Given the description of an element on the screen output the (x, y) to click on. 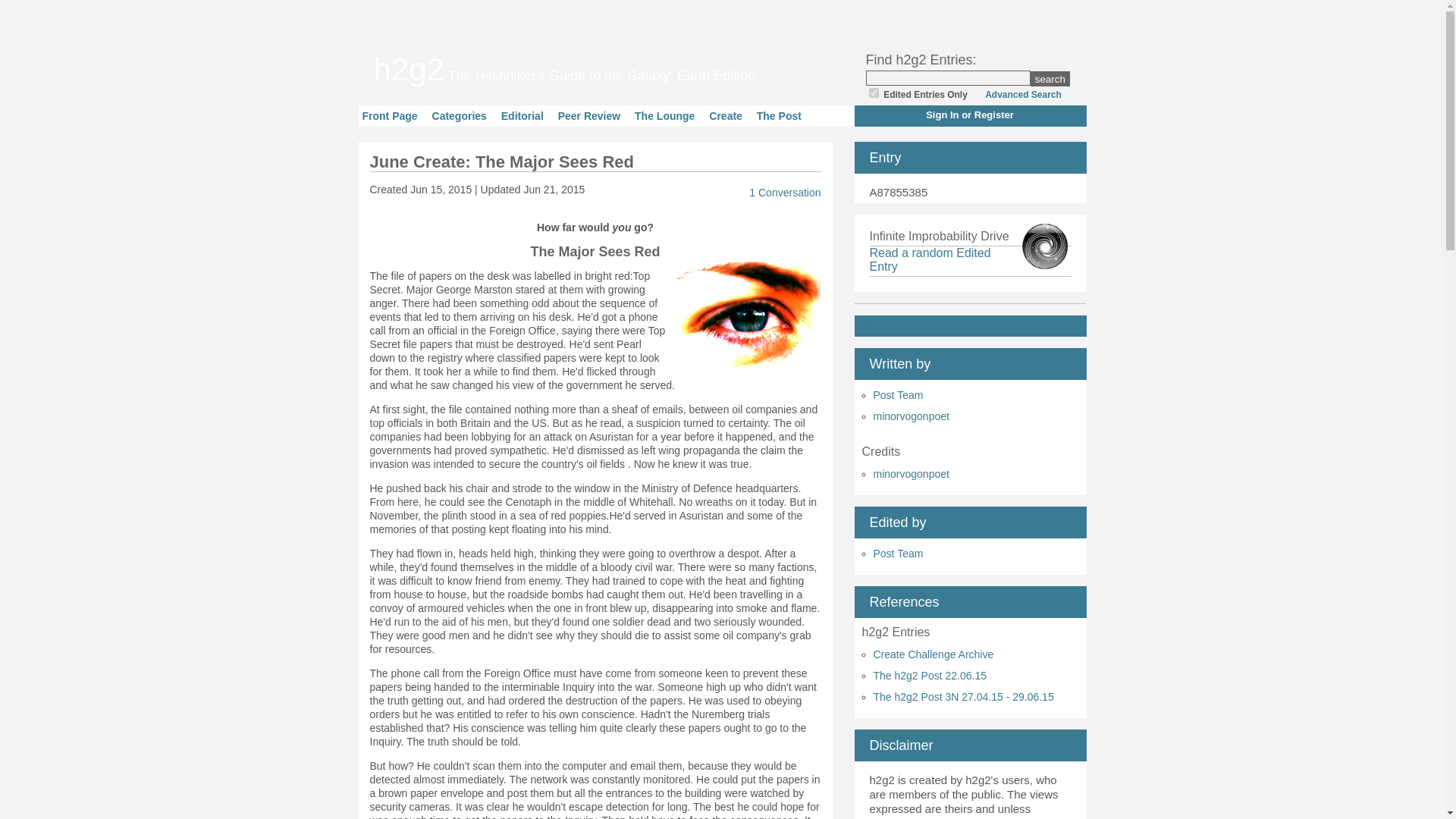
The h2g2 Post 22.06.15 (930, 675)
Infinite Improbability Drive (929, 259)
Editorial (521, 115)
Peer Review (589, 115)
minorvogonpoet (911, 473)
An eye (743, 317)
Post Team (898, 553)
The h2g2 Post 3N 27.04.15 - 29.06.15 (963, 696)
Create (725, 115)
The h2g2 Post 22.06.15 (930, 675)
